Given the description of an element on the screen output the (x, y) to click on. 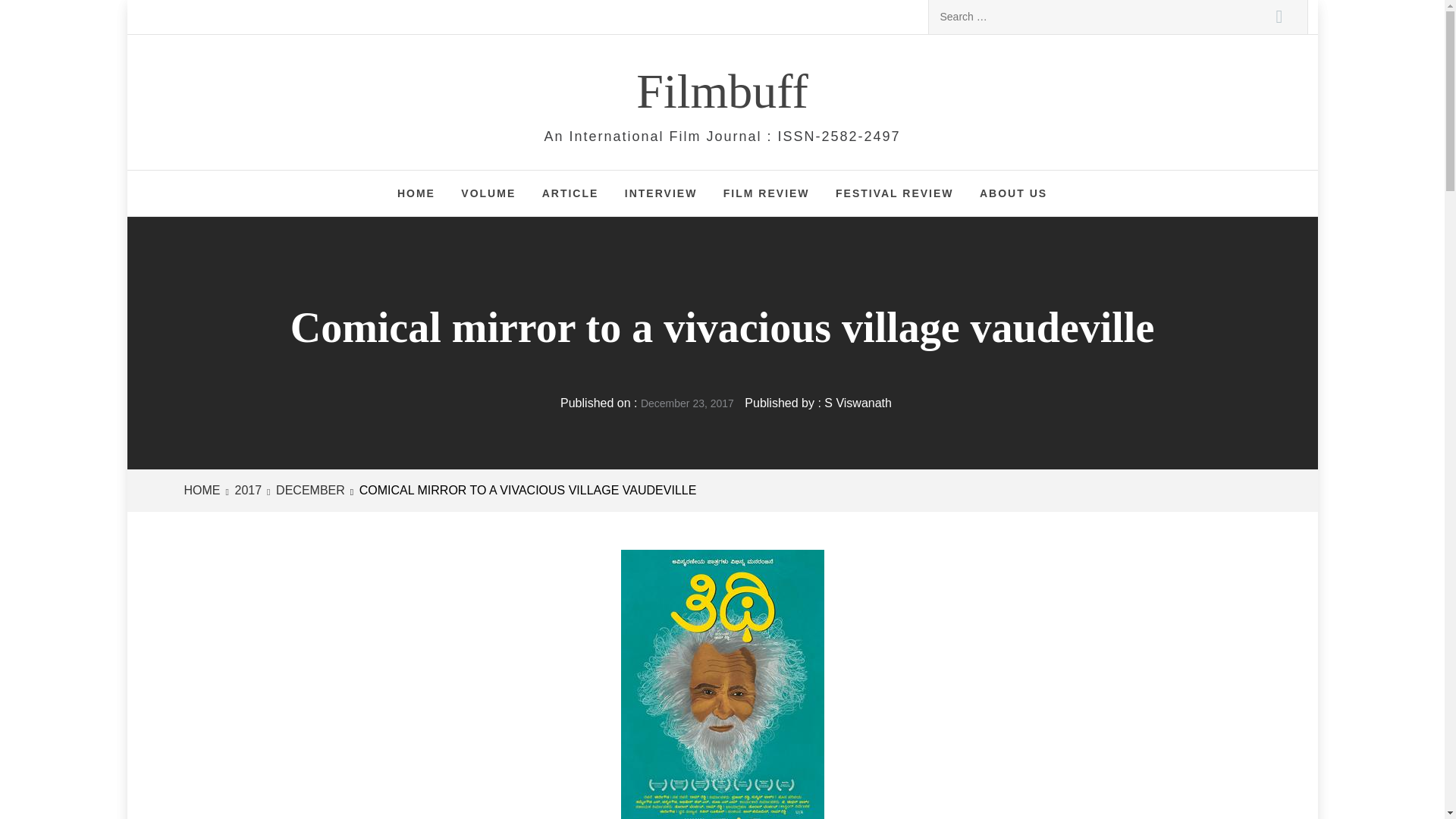
Search (1278, 17)
ARTICLE (570, 193)
HOME (204, 490)
ABOUT US (1013, 193)
S Viswanath (857, 402)
Search (1278, 17)
VOLUME (488, 193)
FILM REVIEW (766, 193)
December 23, 2017 (686, 403)
COMICAL MIRROR TO A VIVACIOUS VILLAGE VAUDEVILLE (525, 490)
